Given the description of an element on the screen output the (x, y) to click on. 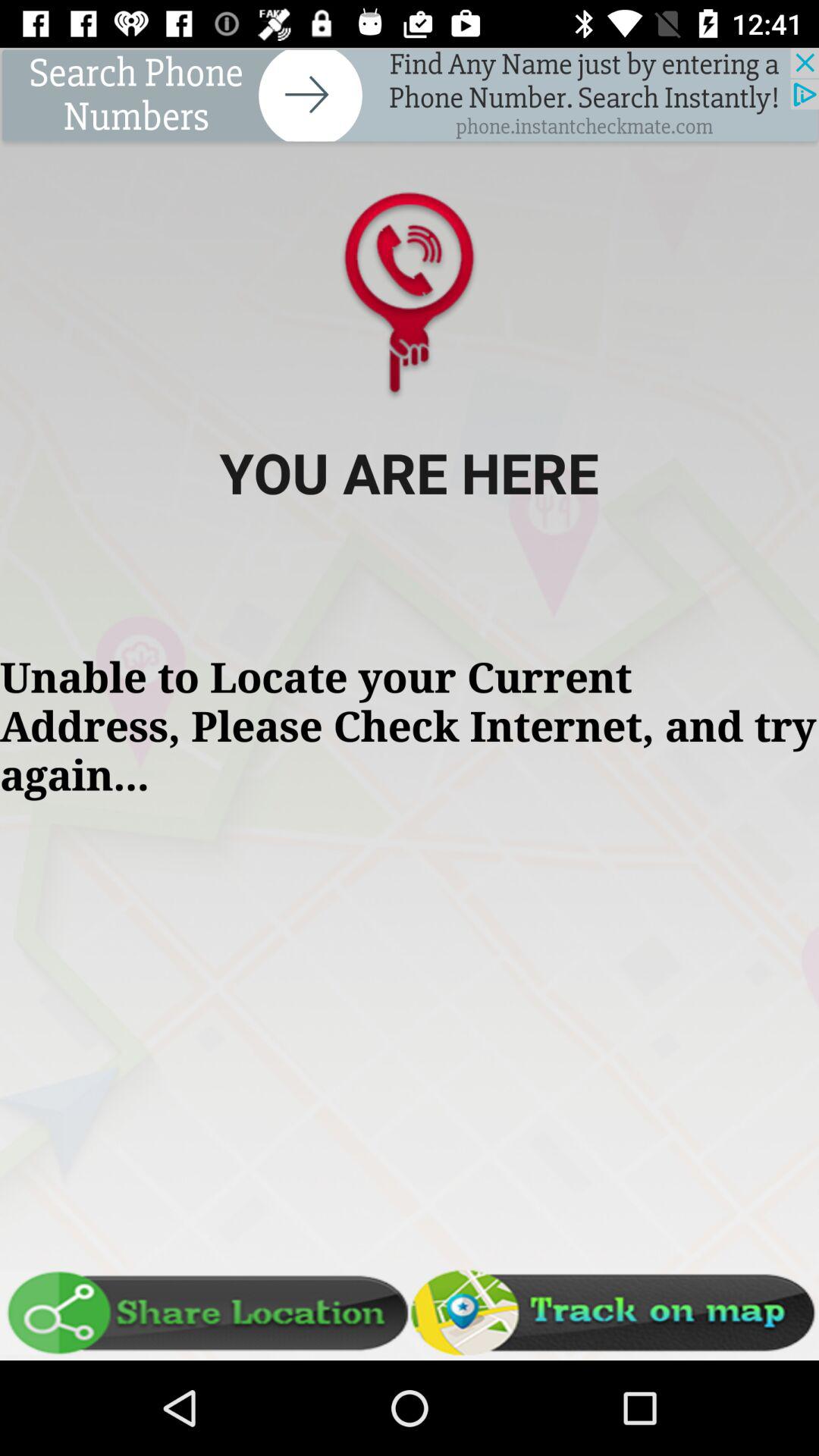
track map (614, 1312)
